Given the description of an element on the screen output the (x, y) to click on. 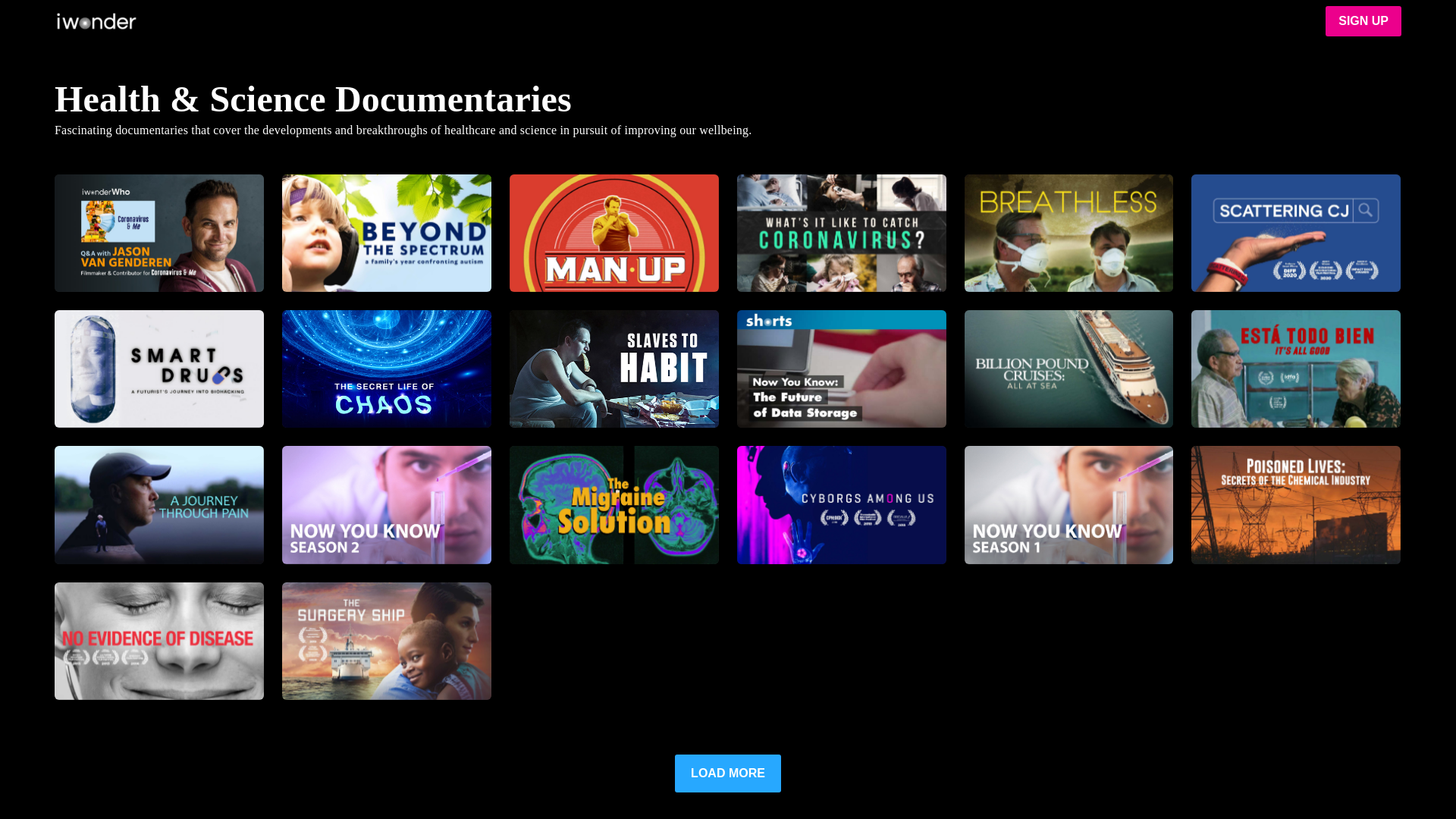
LOAD MORE (727, 773)
SIGN UP (1362, 20)
